Given the description of an element on the screen output the (x, y) to click on. 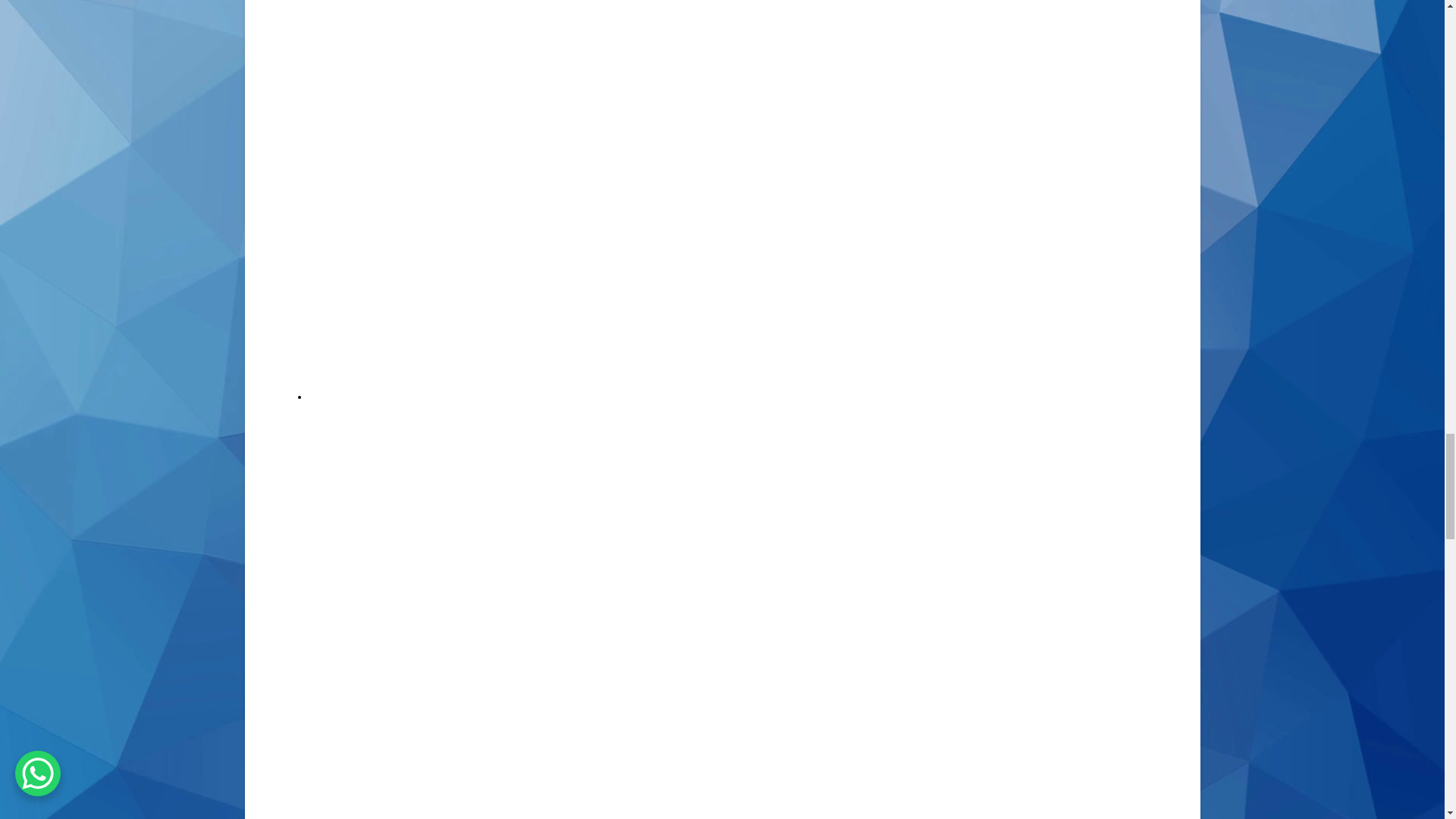
Istanbul Rowing (687, 49)
Dragon Boat Istanbul (536, 756)
